Given the description of an element on the screen output the (x, y) to click on. 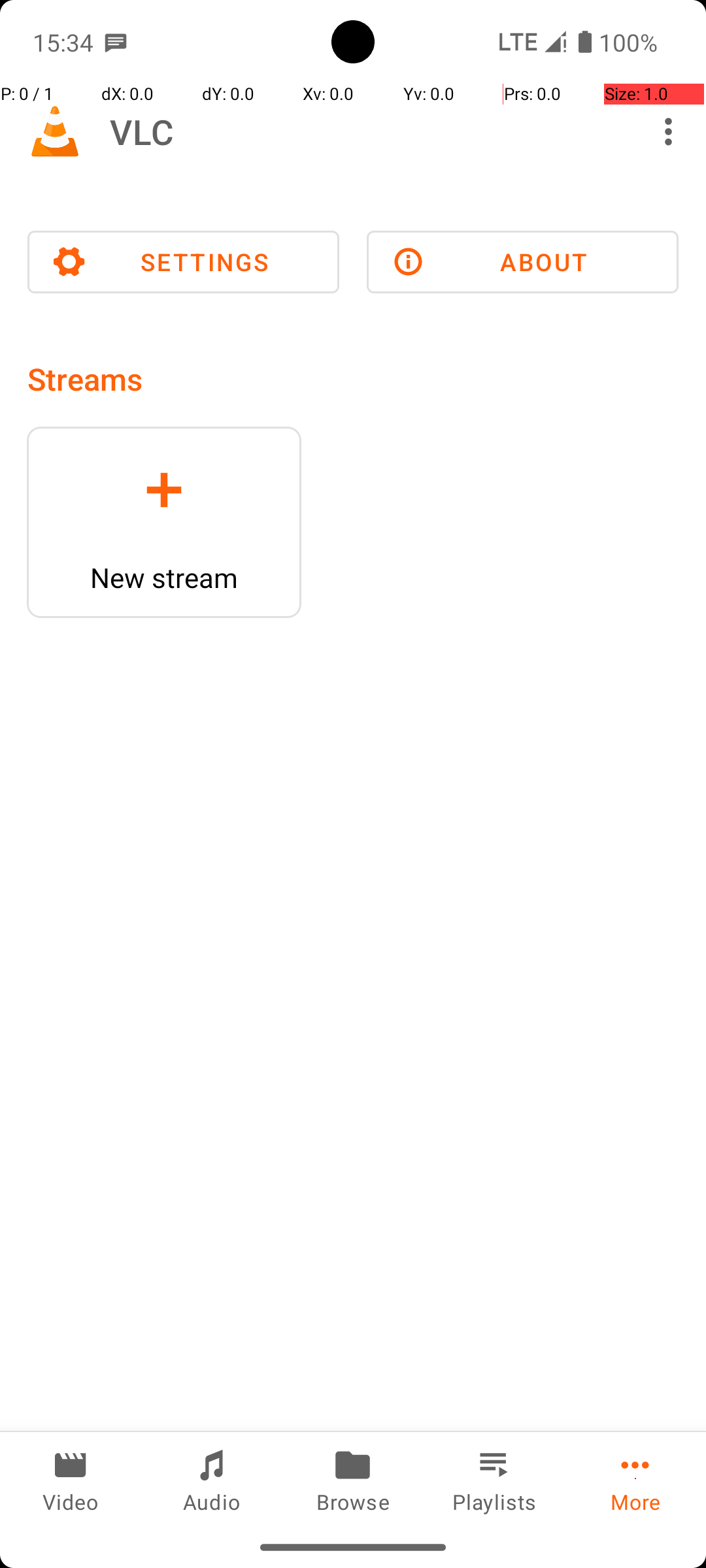
SETTINGS Element type: android.widget.Button (183, 261)
ABOUT Element type: android.widget.Button (522, 261)
Streams Element type: android.widget.TextView (84, 378)
New stream Element type: android.widget.TextView (163, 576)
